Given the description of an element on the screen output the (x, y) to click on. 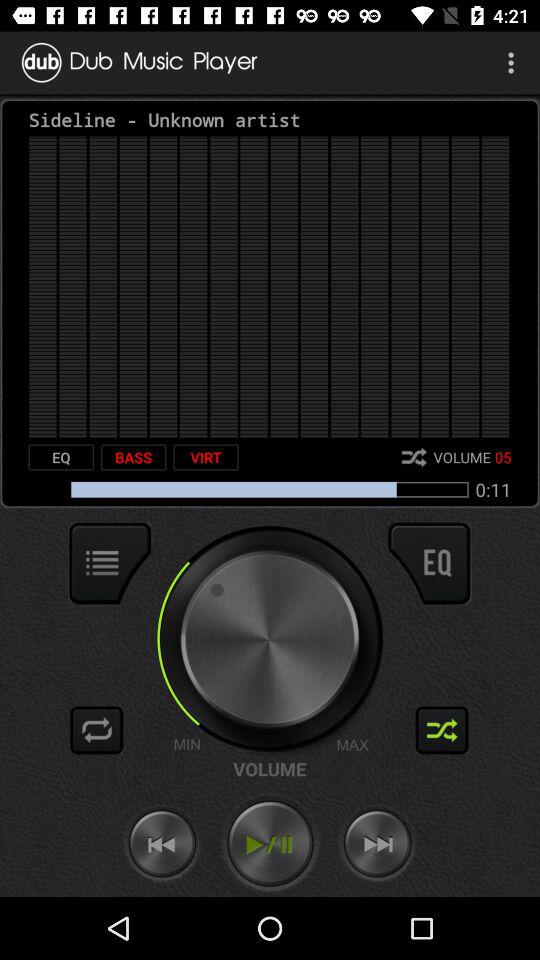
launch the item at the top right corner (513, 62)
